Given the description of an element on the screen output the (x, y) to click on. 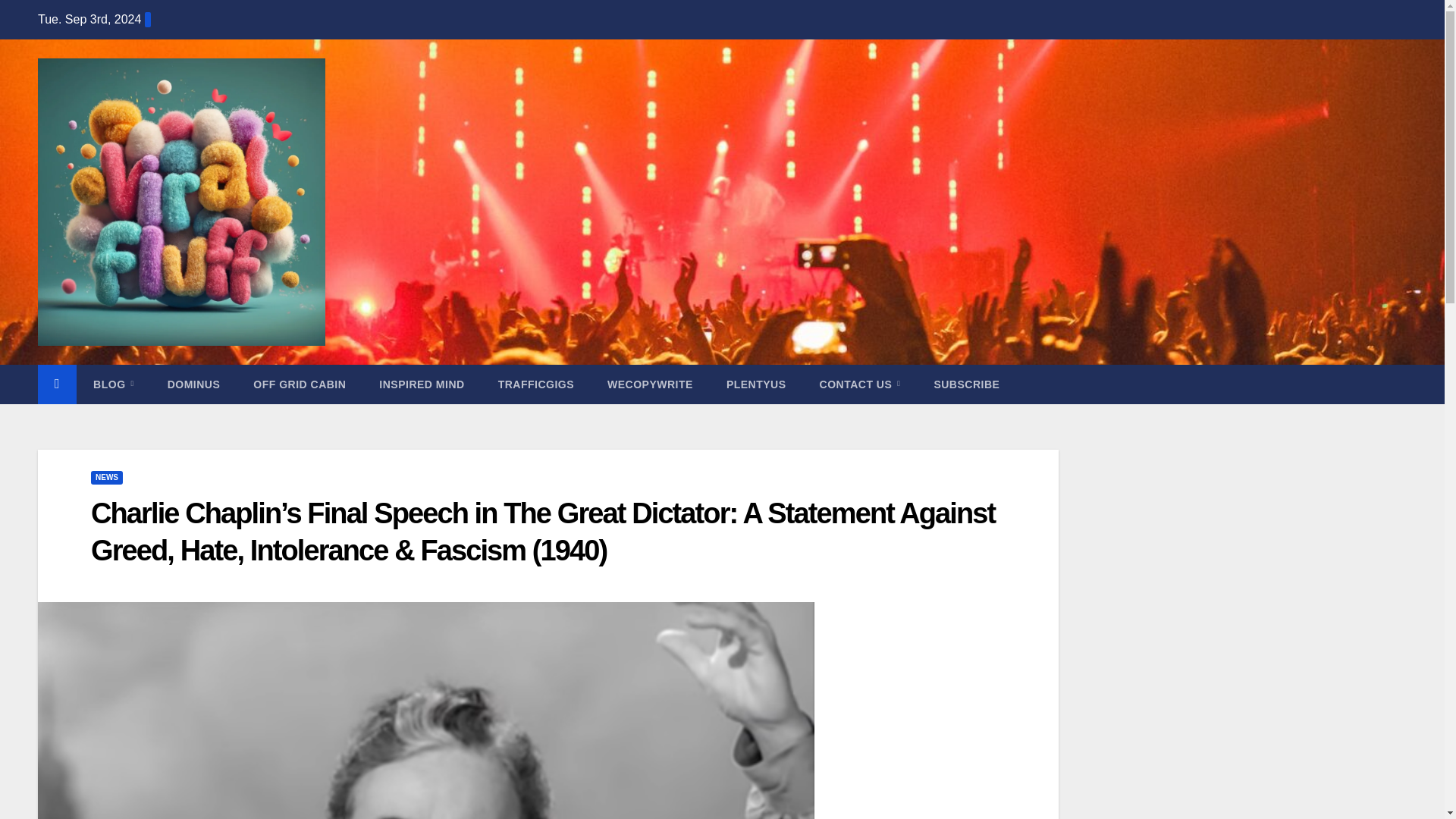
NEWS (106, 477)
INSPIRED MIND (421, 384)
PLENTYUS (756, 384)
CONTACT US (860, 384)
Blog (114, 384)
TRAFFICGIGS (536, 384)
Dominus (194, 384)
OFF GRID CABIN (298, 384)
WECOPYWRITE (650, 384)
Off Grid Cabin (298, 384)
